Given the description of an element on the screen output the (x, y) to click on. 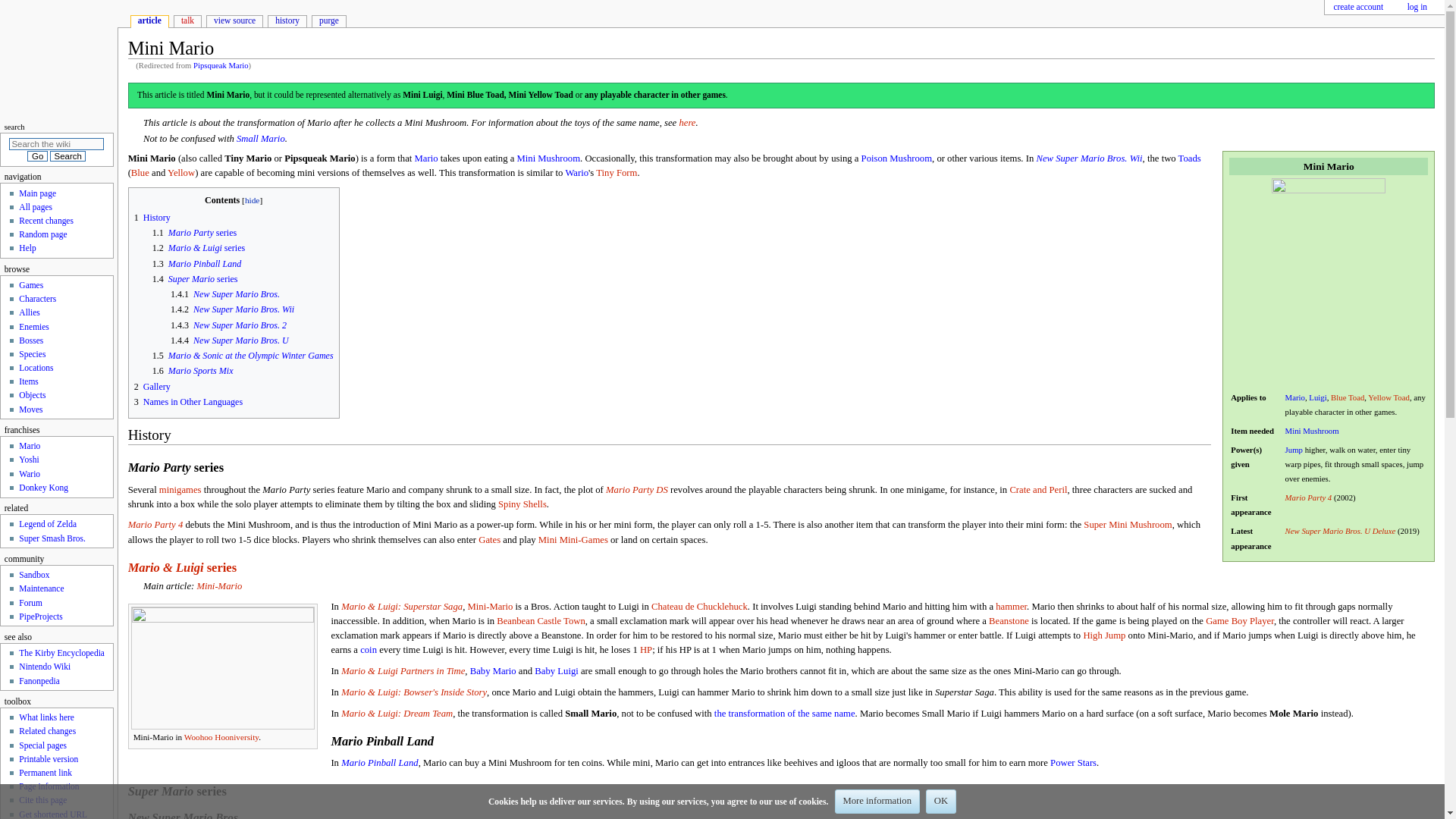
minigames (180, 489)
Jump (1294, 449)
3 Names in Other Languages (188, 401)
New Super Mario Bros. U Deluxe (1340, 530)
Mario (426, 158)
Toads (1189, 158)
2 Gallery (151, 386)
here (686, 122)
1.4.4 New Super Mario Bros. U (229, 339)
Luigi (1317, 397)
Poison Mushroom (896, 158)
Mini Mushroom (1312, 429)
1.3 Mario Pinball Land (196, 263)
Small Mario (260, 138)
Tiny Form (616, 172)
